Given the description of an element on the screen output the (x, y) to click on. 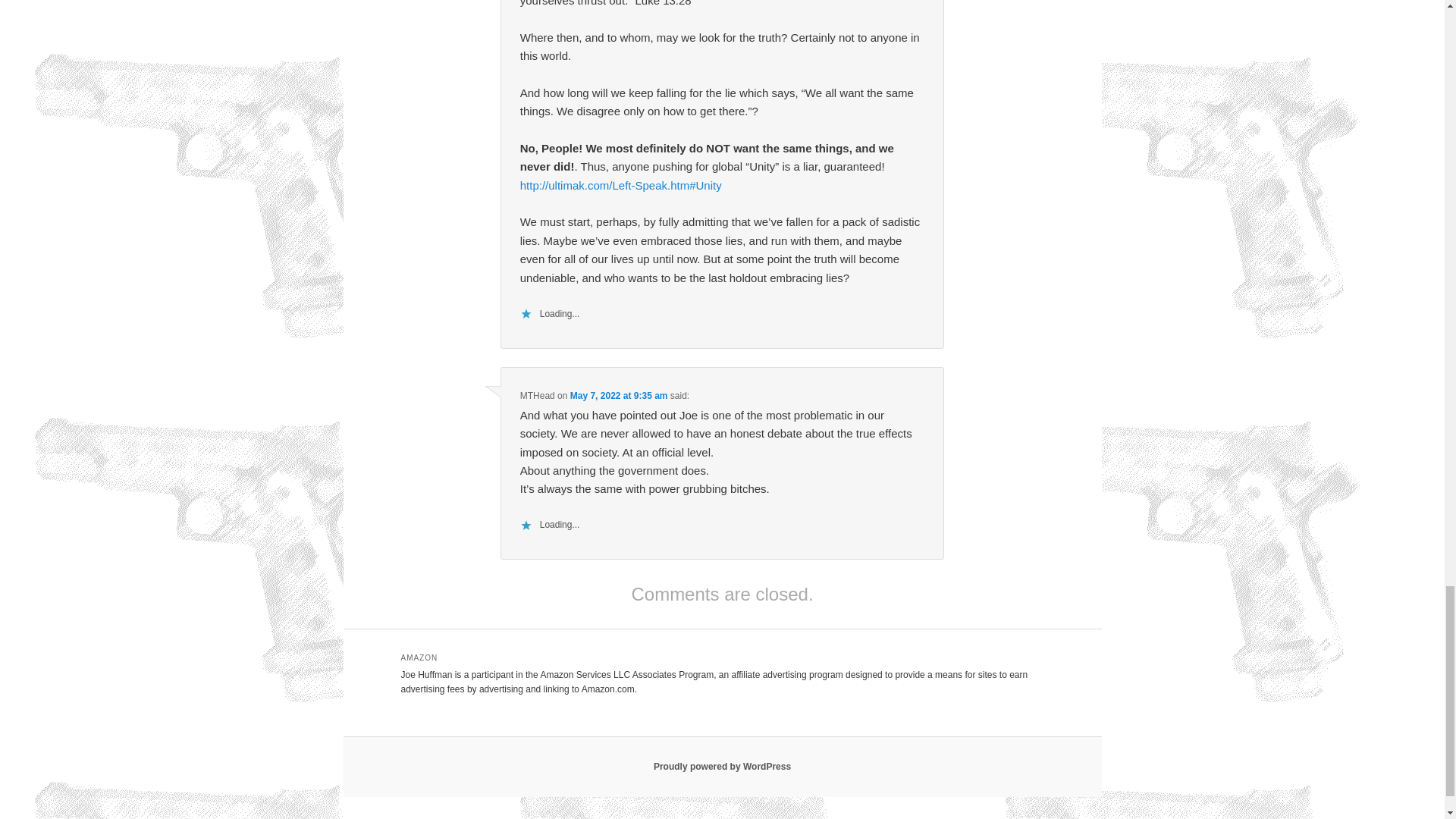
May 7, 2022 at 9:35 am (619, 395)
